Given the description of an element on the screen output the (x, y) to click on. 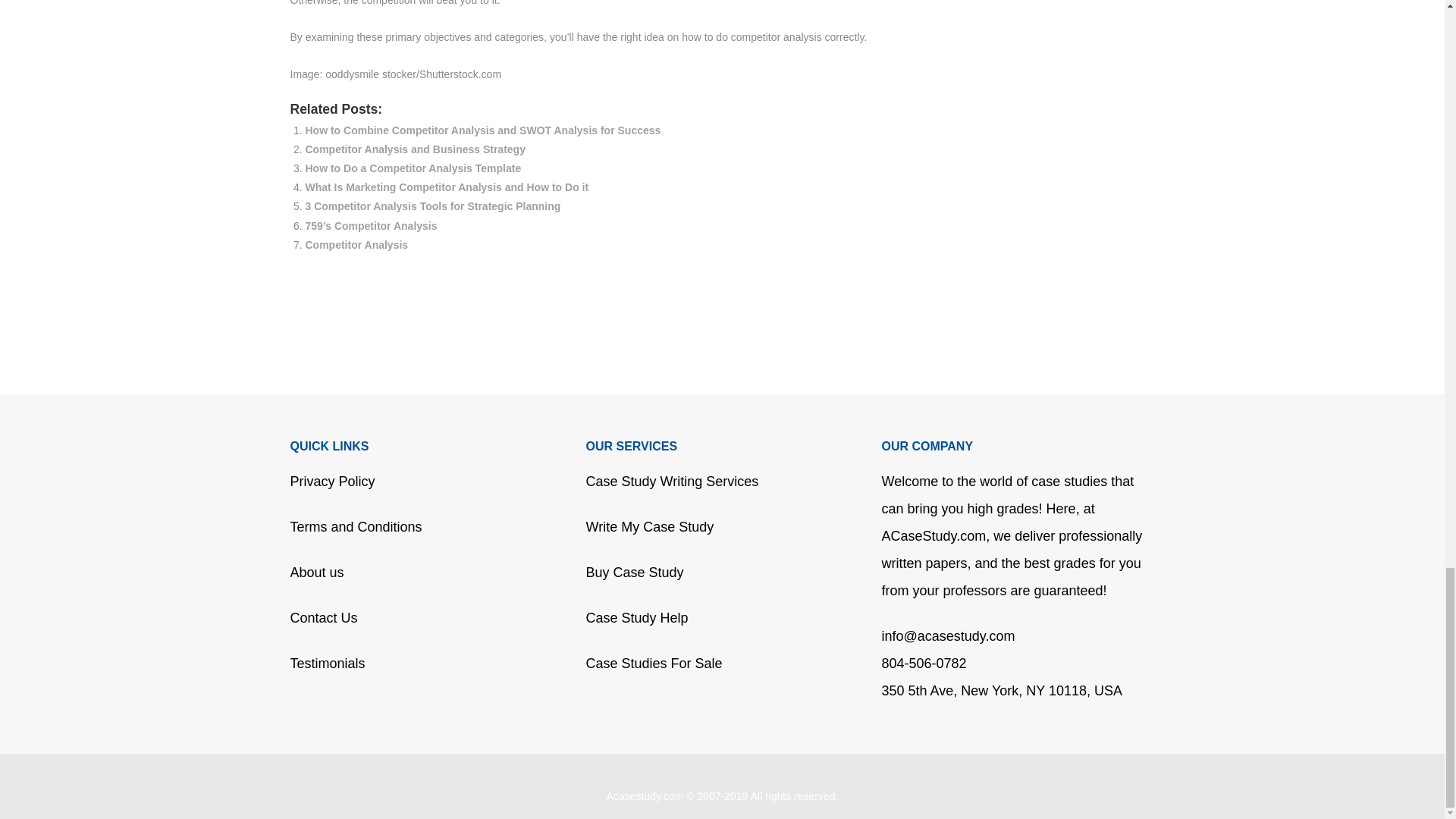
How to Do a Competitor Analysis Template (412, 168)
Competitor Analysis (355, 244)
What Is Marketing Competitor Analysis and How to Do it (446, 186)
3 Competitor Analysis Tools for Strategic Planning (432, 205)
Competitor Analysis and Business Strategy (414, 149)
